Given the description of an element on the screen output the (x, y) to click on. 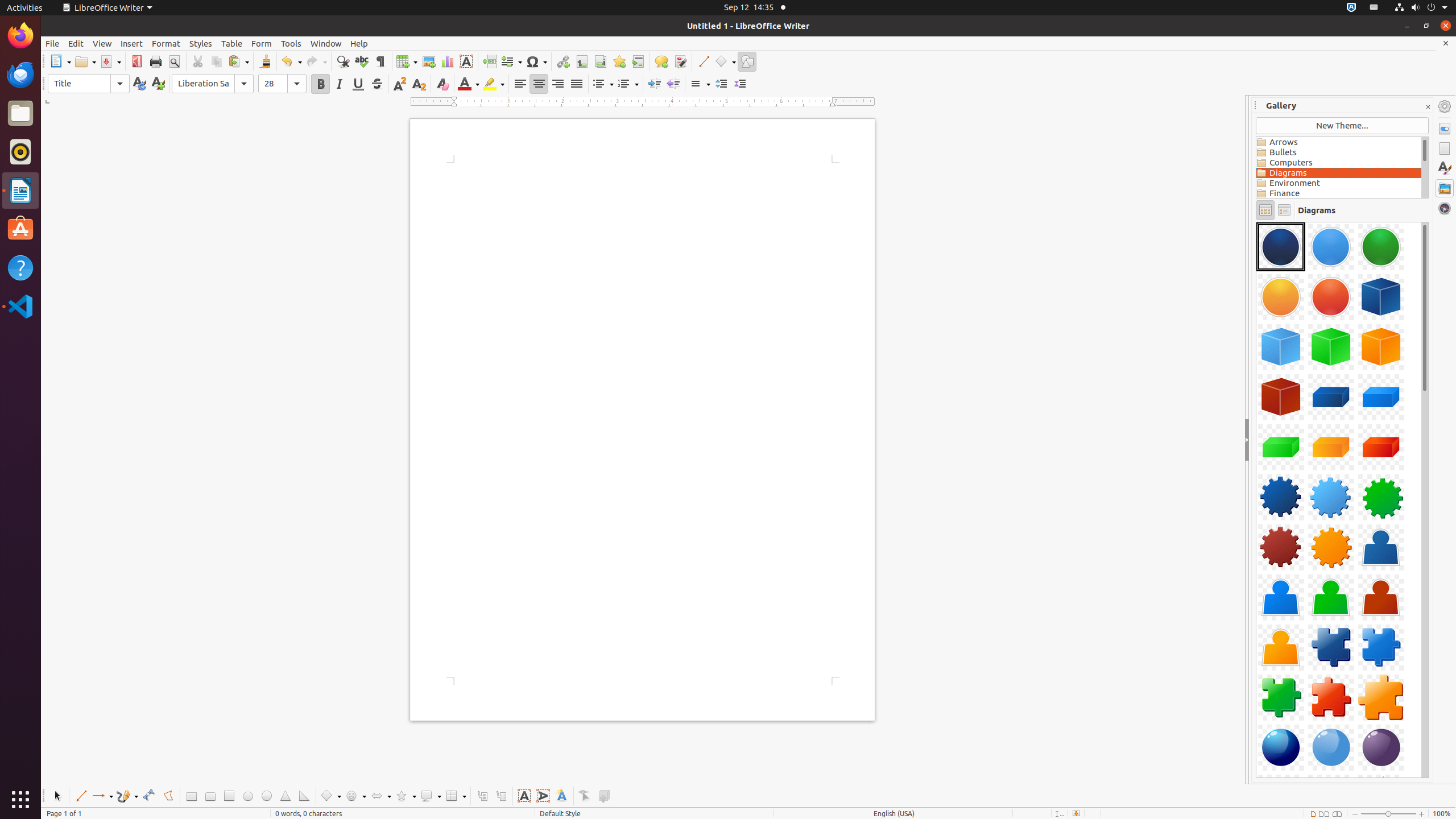
Toggle Extrusion Element type: push-button (603, 795)
Table Element type: push-button (406, 61)
Component-Cube03-Green Element type: list-item (1330, 346)
Component-Sphere03-Green Element type: list-item (1380, 746)
Font Color Element type: push-button (468, 83)
